Given the description of an element on the screen output the (x, y) to click on. 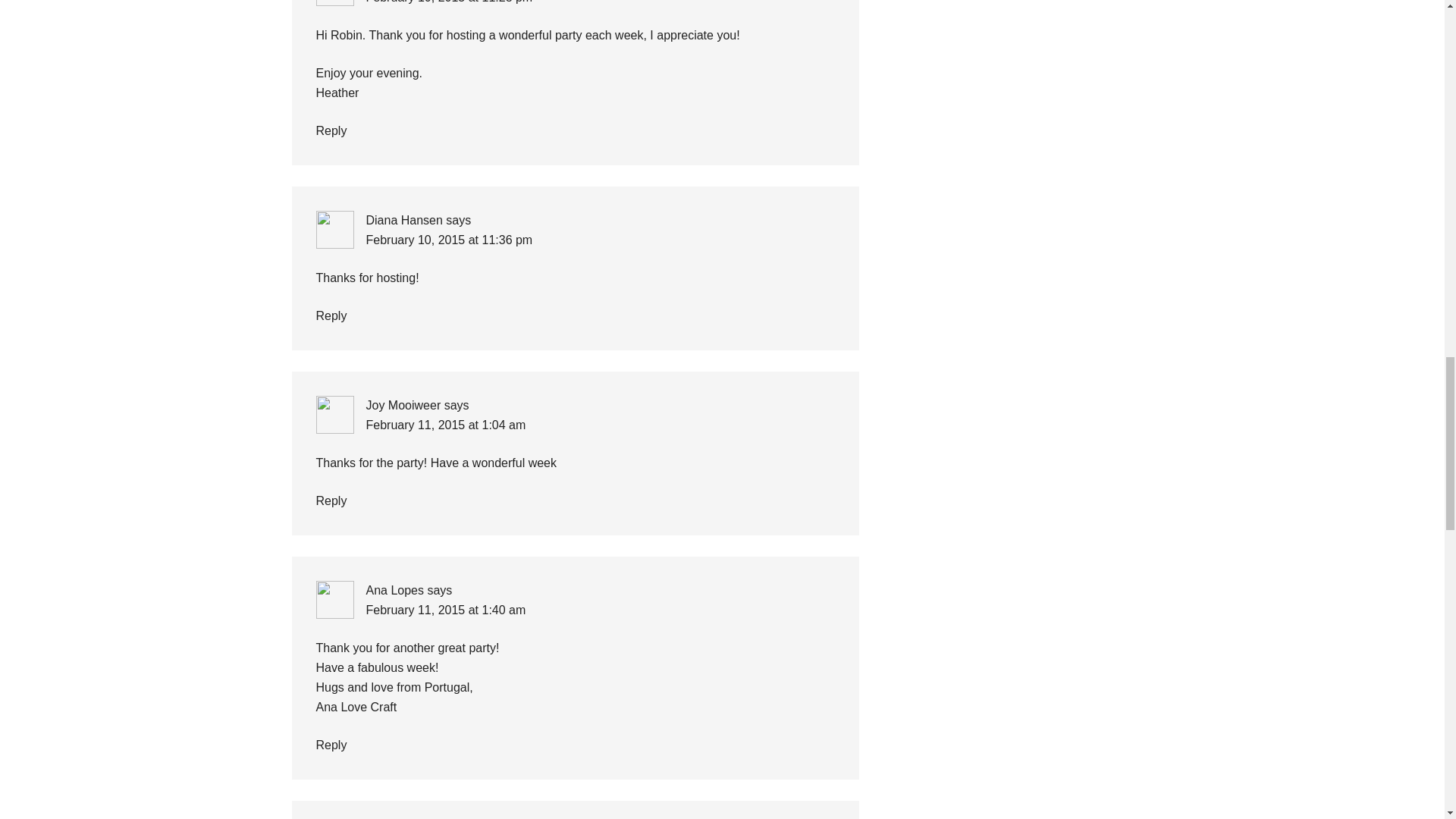
Reply (330, 315)
Reply (330, 744)
February 10, 2015 at 11:28 pm (448, 2)
February 11, 2015 at 1:04 am (445, 424)
February 10, 2015 at 11:36 pm (448, 239)
Reply (330, 130)
Reply (330, 500)
February 11, 2015 at 1:40 am (445, 609)
